Given the description of an element on the screen output the (x, y) to click on. 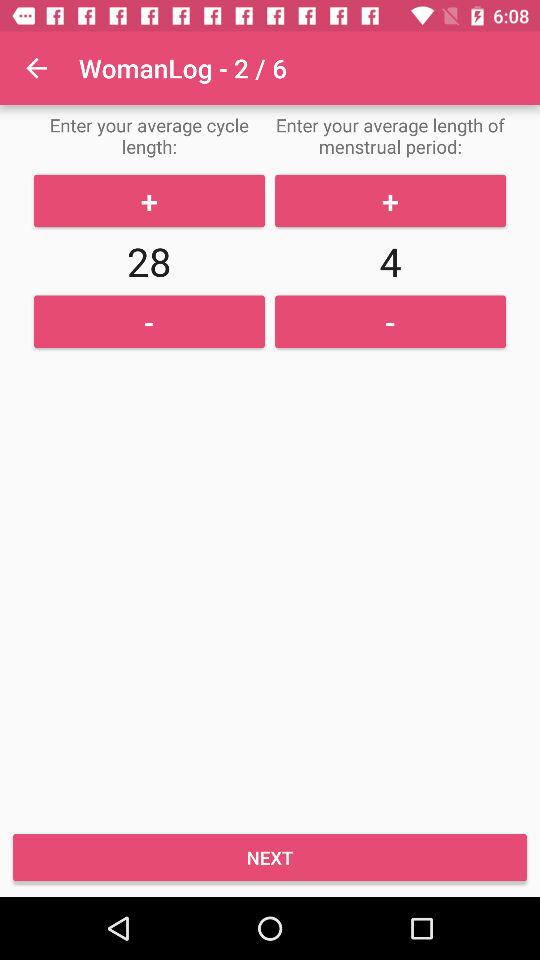
select  option below 28 (149, 322)
click on last button (269, 856)
